Given the description of an element on the screen output the (x, y) to click on. 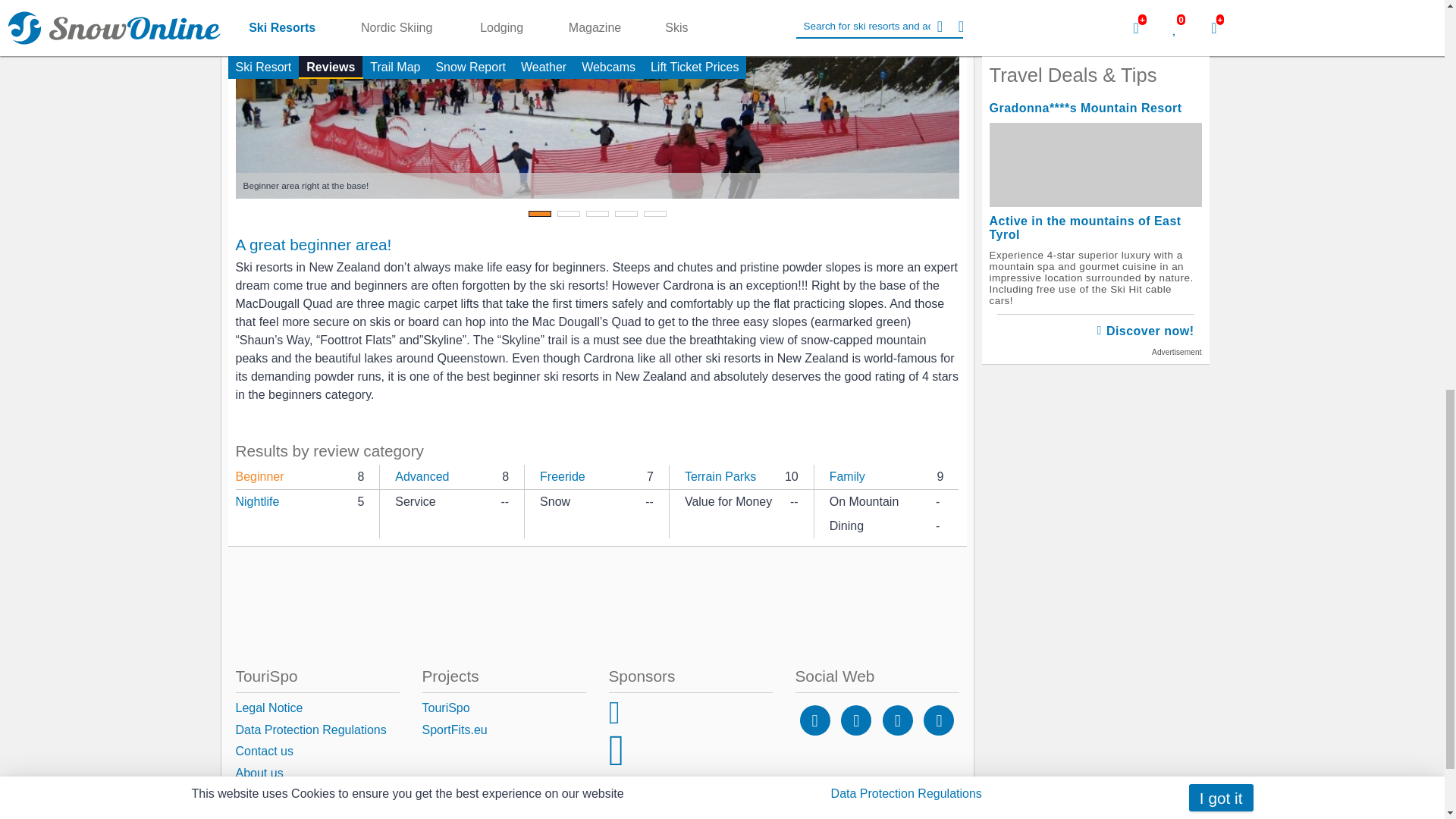
Nightlife (256, 513)
Advanced (421, 476)
Beginner (258, 476)
Family (846, 476)
Freeride (562, 476)
Terrain Parks (719, 476)
